Given the description of an element on the screen output the (x, y) to click on. 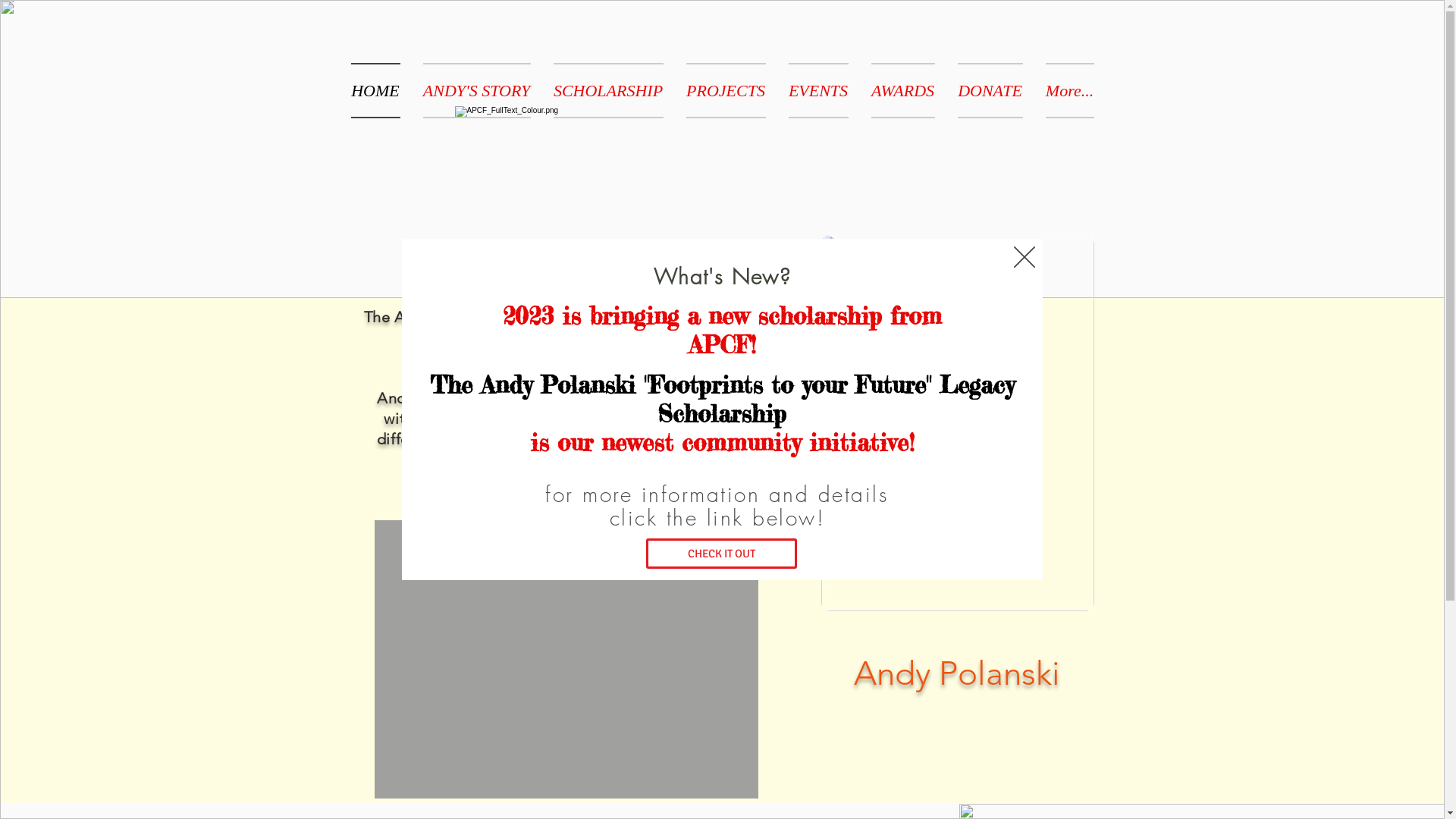
HOME Element type: text (380, 90)
EVENTS Element type: text (817, 90)
CHECK IT OUT Element type: text (721, 553)
Back to site Element type: hover (1024, 256)
AWARDS Element type: text (902, 90)
DONATE Element type: text (990, 90)
PROJECTS Element type: text (725, 90)
SCHOLARSHIP Element type: text (607, 90)
ANDY'S STORY Element type: text (476, 90)
